Given the description of an element on the screen output the (x, y) to click on. 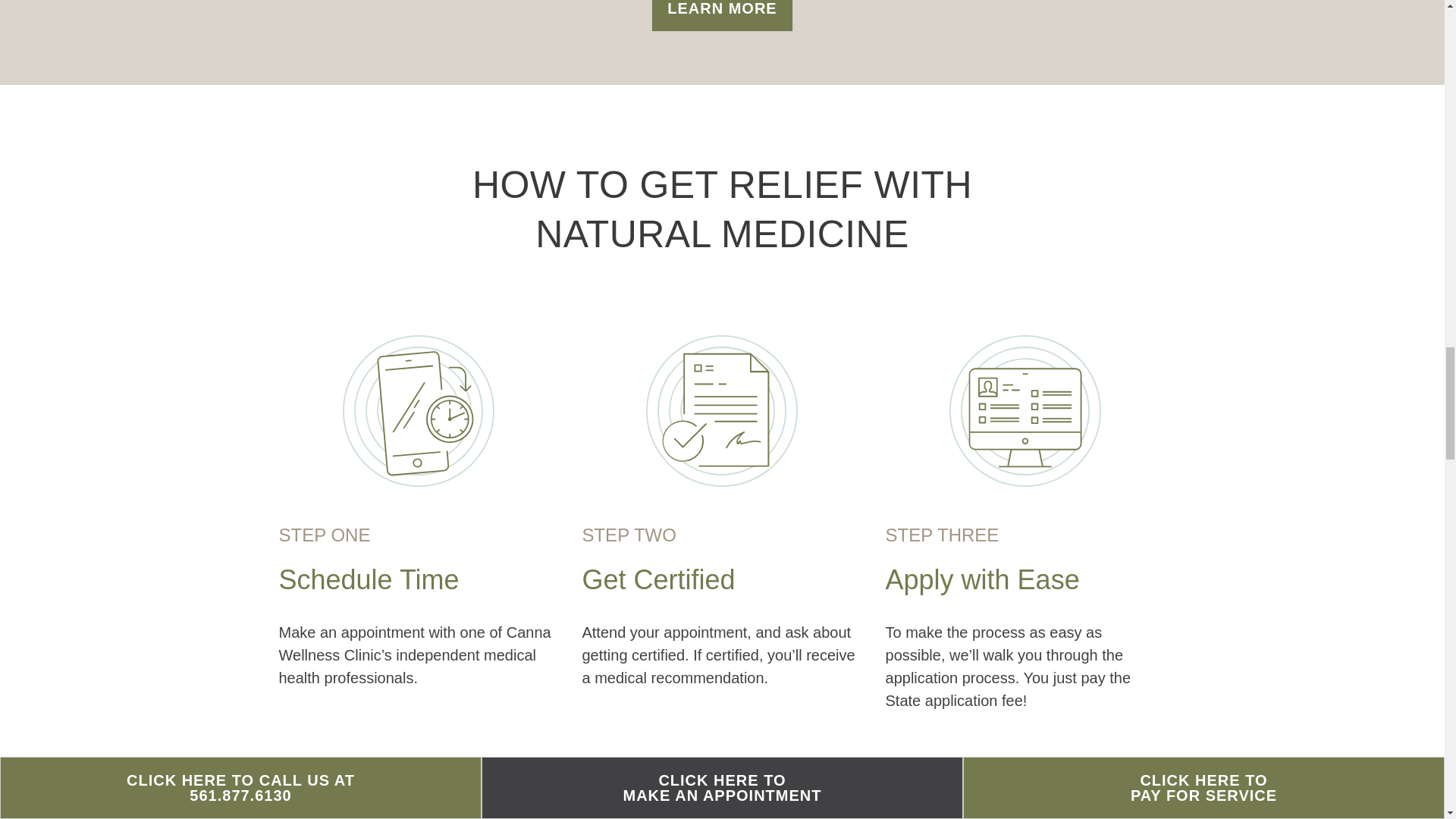
Homepage Icon - Apply with Ease (1024, 410)
Homepage Icon - Schedule Time (418, 410)
Homepage Icon - Find Relief (722, 778)
Homepage Icon - Follow Up (1025, 778)
LEARN MORE (721, 15)
Homepage Icon - Get Certified (721, 410)
Homepage Icon - Get Your Medical Card (418, 778)
